Given the description of an element on the screen output the (x, y) to click on. 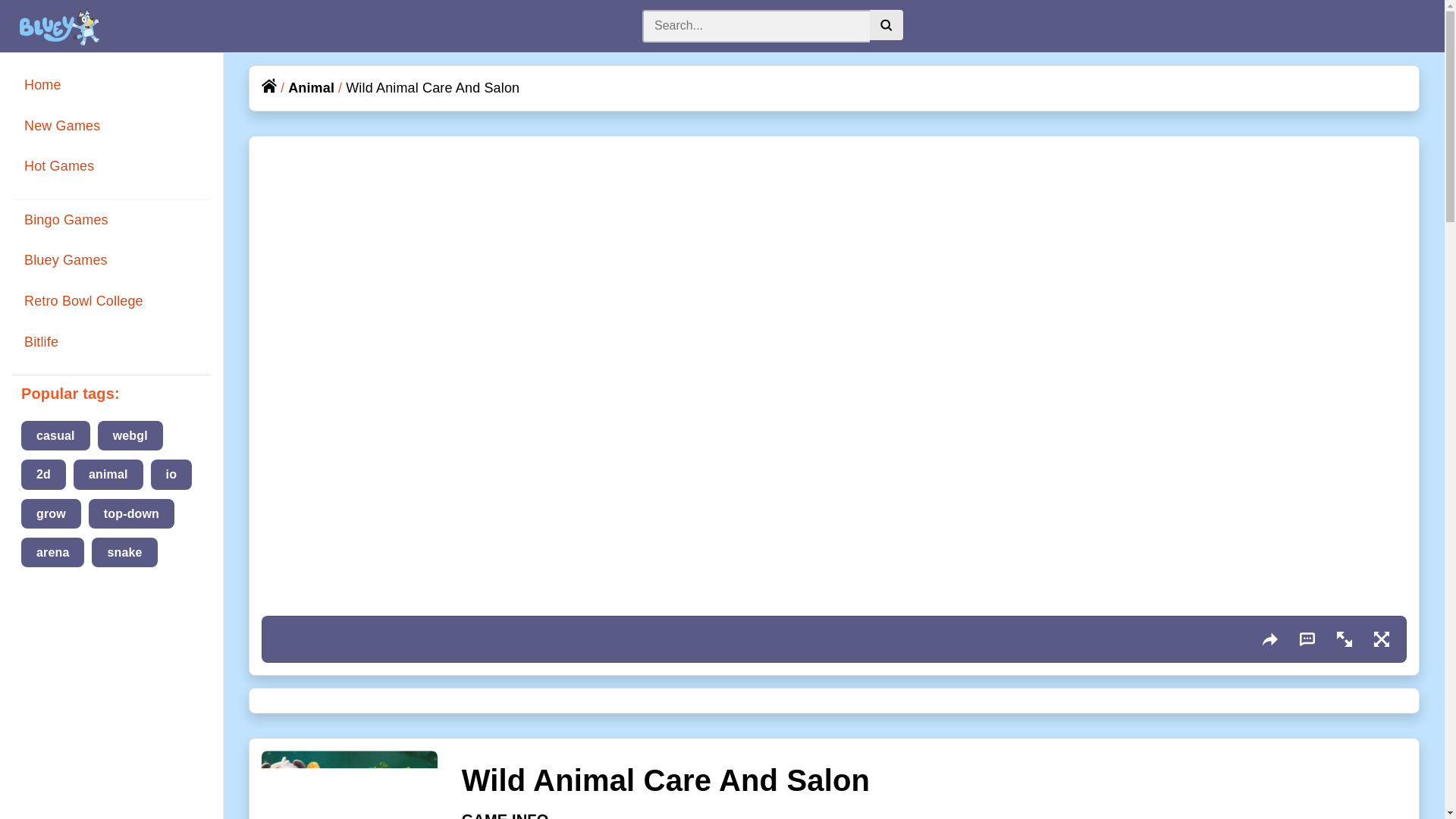
casual (55, 435)
io (171, 473)
Bitlife (41, 341)
Bluey Games (65, 259)
Retro Bowl College (83, 300)
arena (52, 552)
Home (42, 84)
webgl (130, 435)
grow (51, 513)
top-down (131, 513)
Bluey Game (54, 26)
snake (124, 552)
2d (43, 473)
Hot Games (59, 165)
Bluey Games (65, 259)
